Given the description of an element on the screen output the (x, y) to click on. 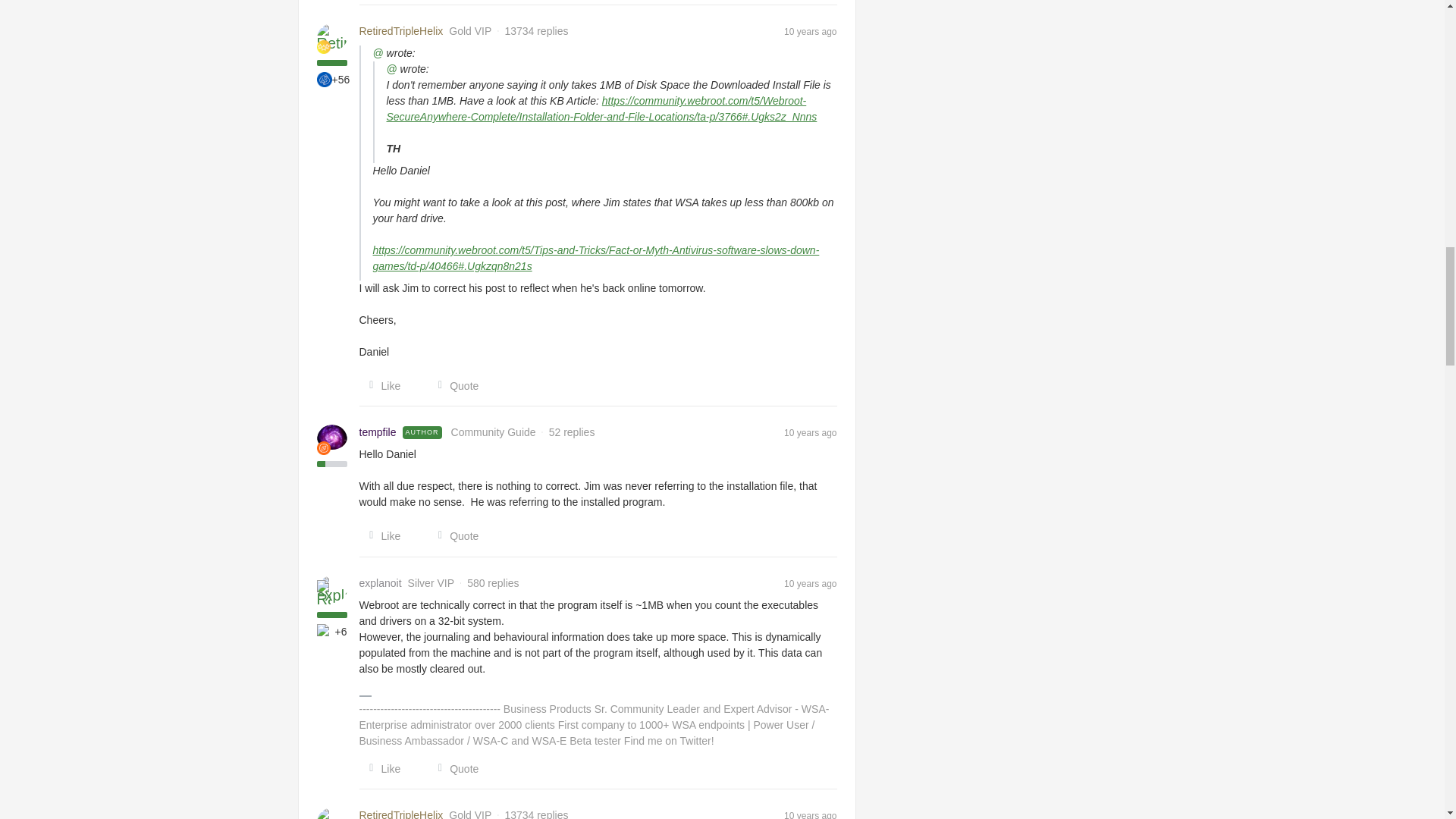
Community Guide (323, 448)
tempfile (377, 432)
News: Posted 50 comments! (324, 631)
Gold VIP (323, 47)
Most Wanted (324, 79)
RetiredTripleHelix (401, 31)
RetiredTripleHelix (401, 31)
10 years ago (809, 30)
